Given the description of an element on the screen output the (x, y) to click on. 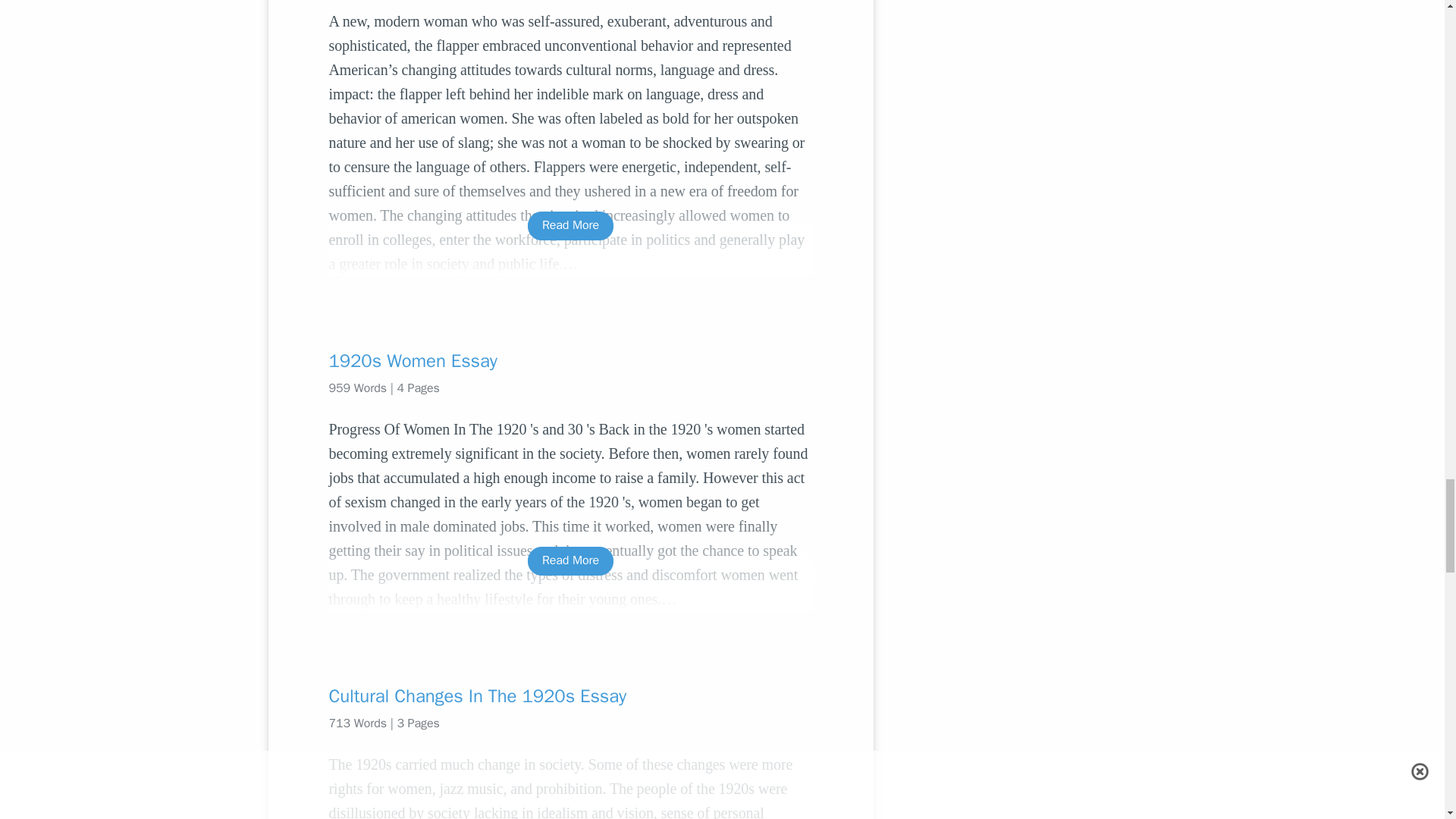
1920s Women Essay (570, 360)
Cultural Changes In The 1920s Essay (570, 695)
Read More (569, 560)
Read More (569, 225)
